Given the description of an element on the screen output the (x, y) to click on. 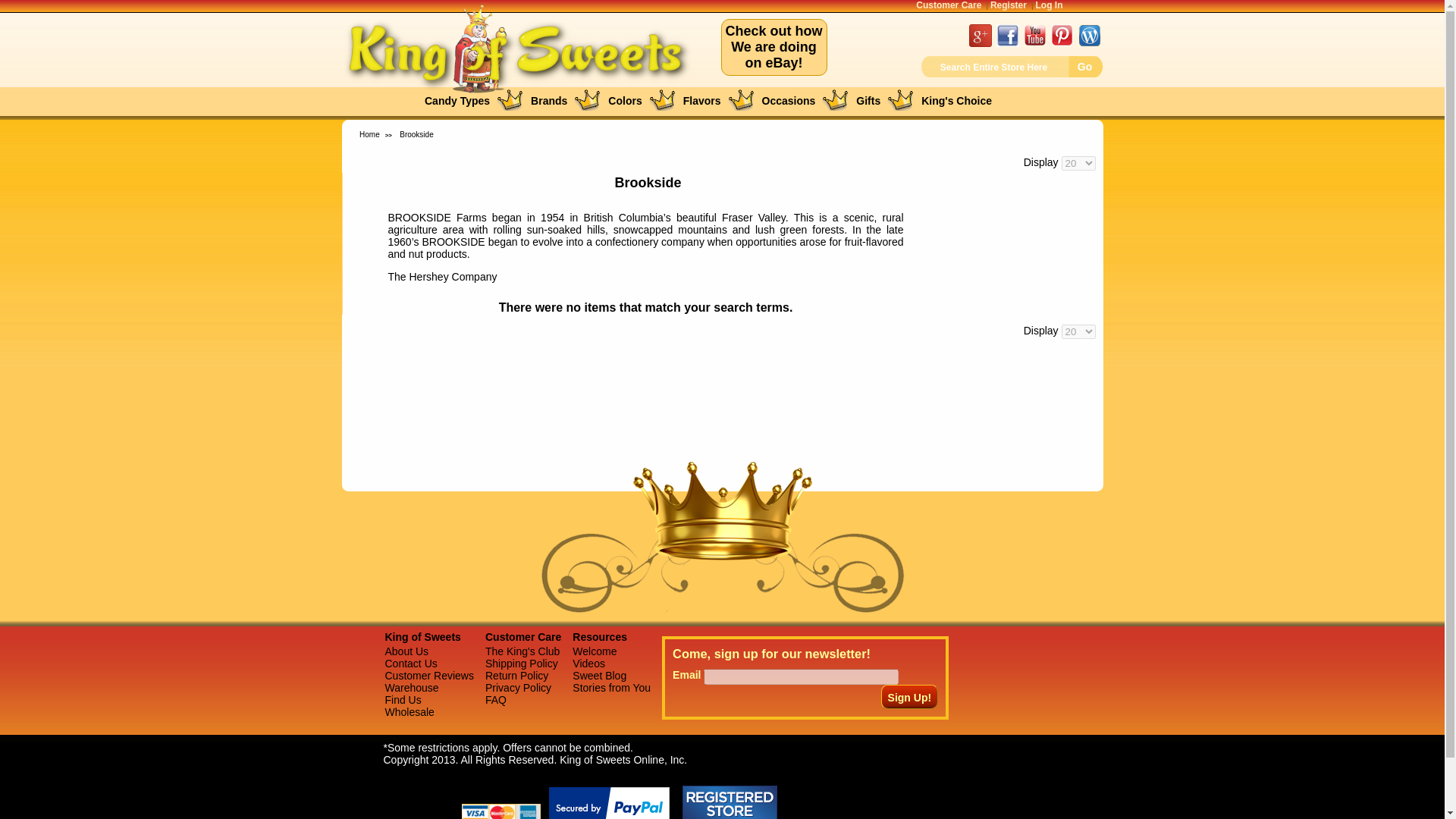
Find Us (403, 699)
Pinterest (1062, 42)
Register (1008, 5)
About Us (407, 651)
Candy Types (456, 101)
Return Policy (516, 675)
Customer Care (948, 5)
FaceBook.com (1007, 42)
Customer Reviews (429, 675)
Warehouse (409, 711)
WordPress (1089, 42)
Register (1008, 5)
Shipping Policy (520, 663)
The King's Club (521, 651)
Contact Us (411, 663)
